Given the description of an element on the screen output the (x, y) to click on. 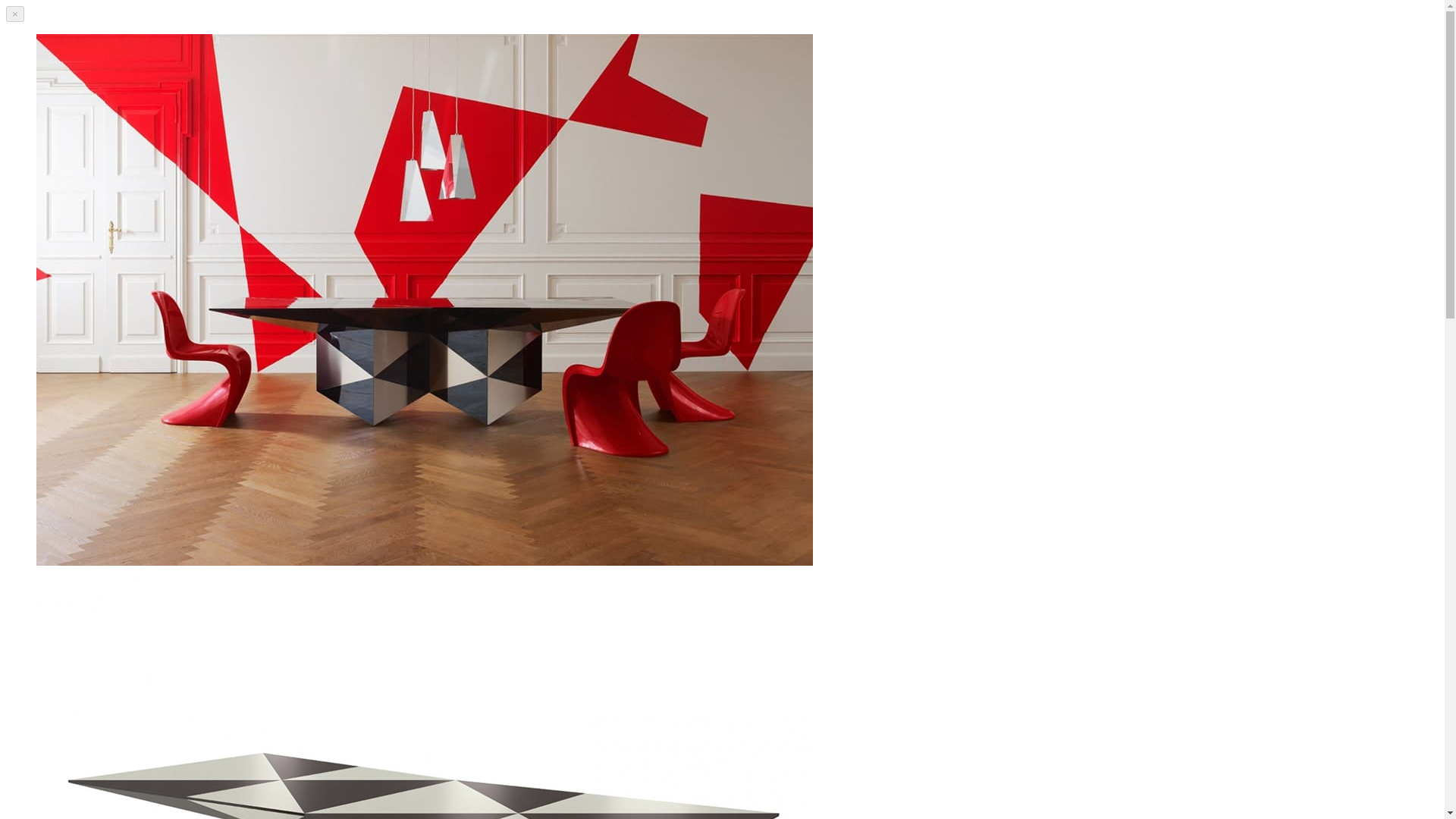
Close (14, 13)
